Given the description of an element on the screen output the (x, y) to click on. 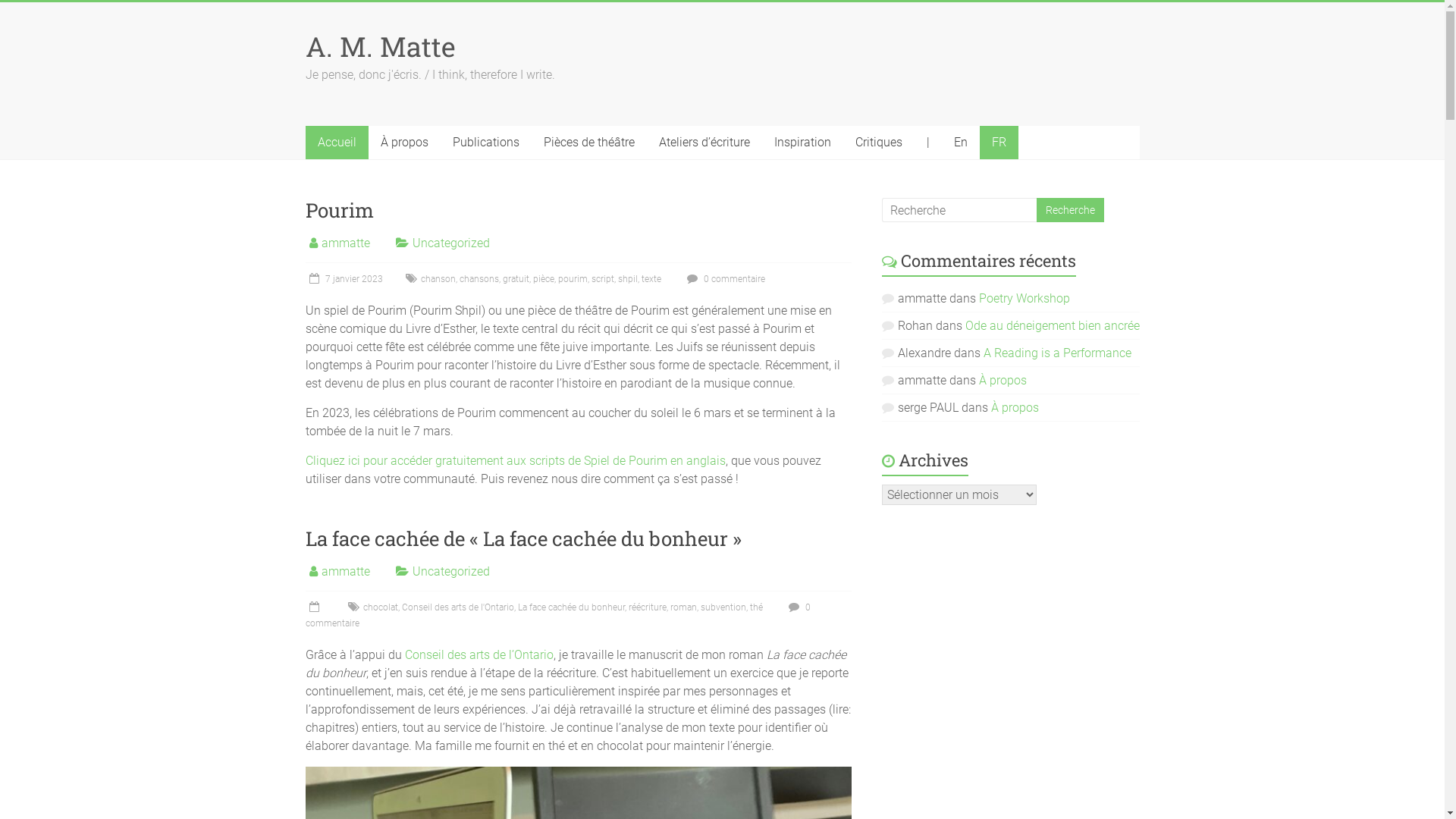
| Element type: text (927, 142)
Critiques Element type: text (878, 142)
A Reading is a Performance Element type: text (1057, 352)
Uncategorized Element type: text (450, 571)
texte Element type: text (651, 278)
A. M. Matte Element type: text (379, 46)
Recherche Element type: text (1069, 209)
ammatte Element type: text (345, 242)
7 janvier 2023 Element type: text (343, 278)
shpil Element type: text (627, 278)
chanson Element type: text (437, 278)
0 commentaire Element type: text (723, 278)
chocolat Element type: text (379, 607)
FR Element type: text (998, 142)
roman Element type: text (683, 607)
gratuit Element type: text (515, 278)
Publications Element type: text (484, 142)
0 commentaire Element type: text (556, 615)
pourim Element type: text (572, 278)
subvention Element type: text (723, 607)
Conseil des arts de l'Ontario Element type: text (457, 607)
Accueil Element type: text (335, 142)
21:17 Element type: hover (314, 607)
Inspiration Element type: text (801, 142)
En Element type: text (960, 142)
script Element type: text (602, 278)
Pourim Element type: text (338, 209)
chansons Element type: text (478, 278)
Uncategorized Element type: text (450, 242)
ammatte Element type: text (345, 571)
Poetry Workshop Element type: text (1024, 298)
